Given the description of an element on the screen output the (x, y) to click on. 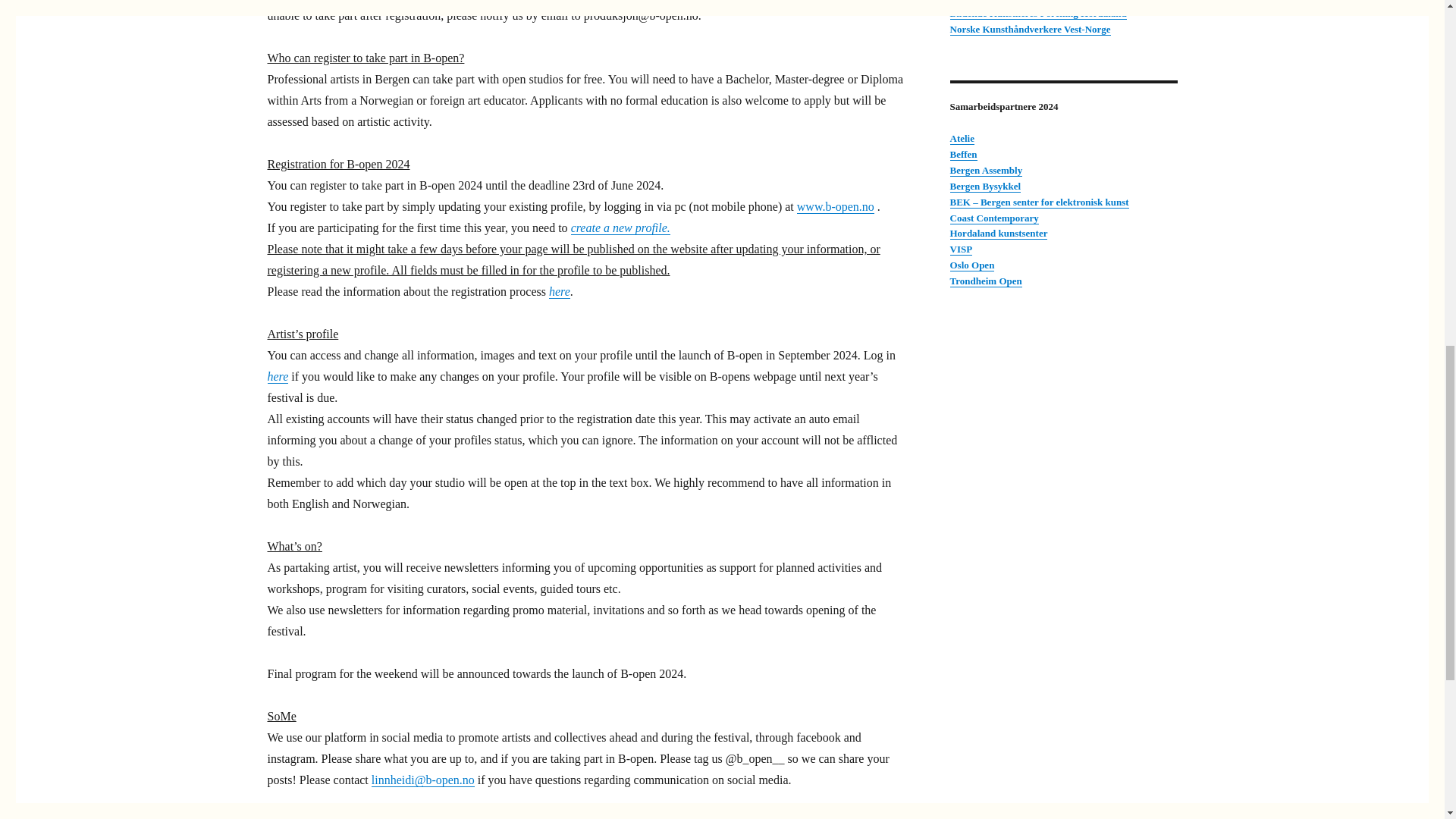
Vestlands Fylkeskommune (1005, 1)
Bergen Assembly (985, 170)
www.b-open.no (835, 205)
create a new profile. (619, 227)
Beffen (962, 153)
Bildende Kunstneres Forening Hordaland (1037, 12)
Atelie (961, 138)
here (277, 376)
here (559, 291)
